Given the description of an element on the screen output the (x, y) to click on. 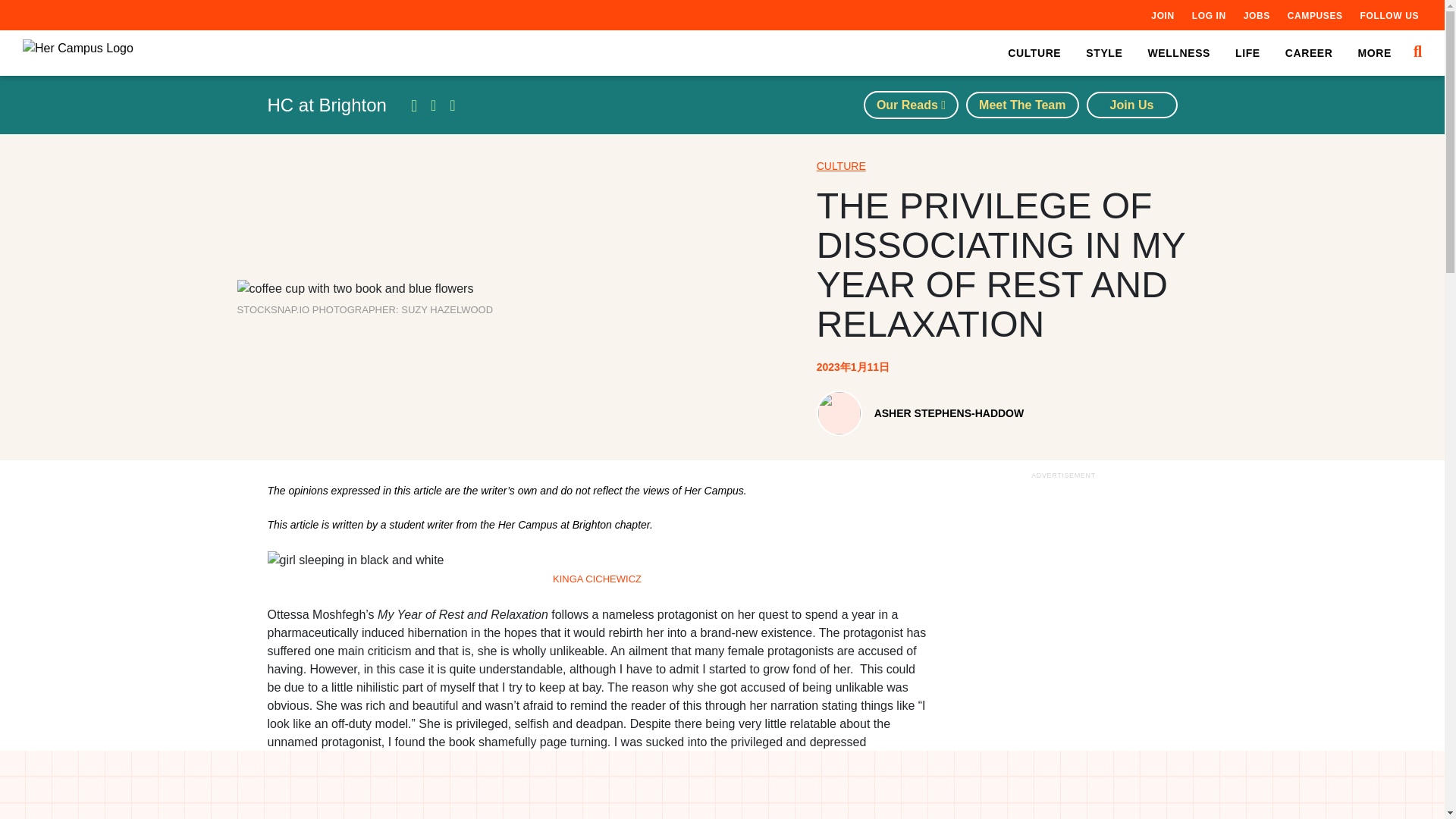
JOIN (1162, 15)
JOBS (1256, 15)
LOG IN (1208, 15)
CAMPUSES (1314, 15)
